Given the description of an element on the screen output the (x, y) to click on. 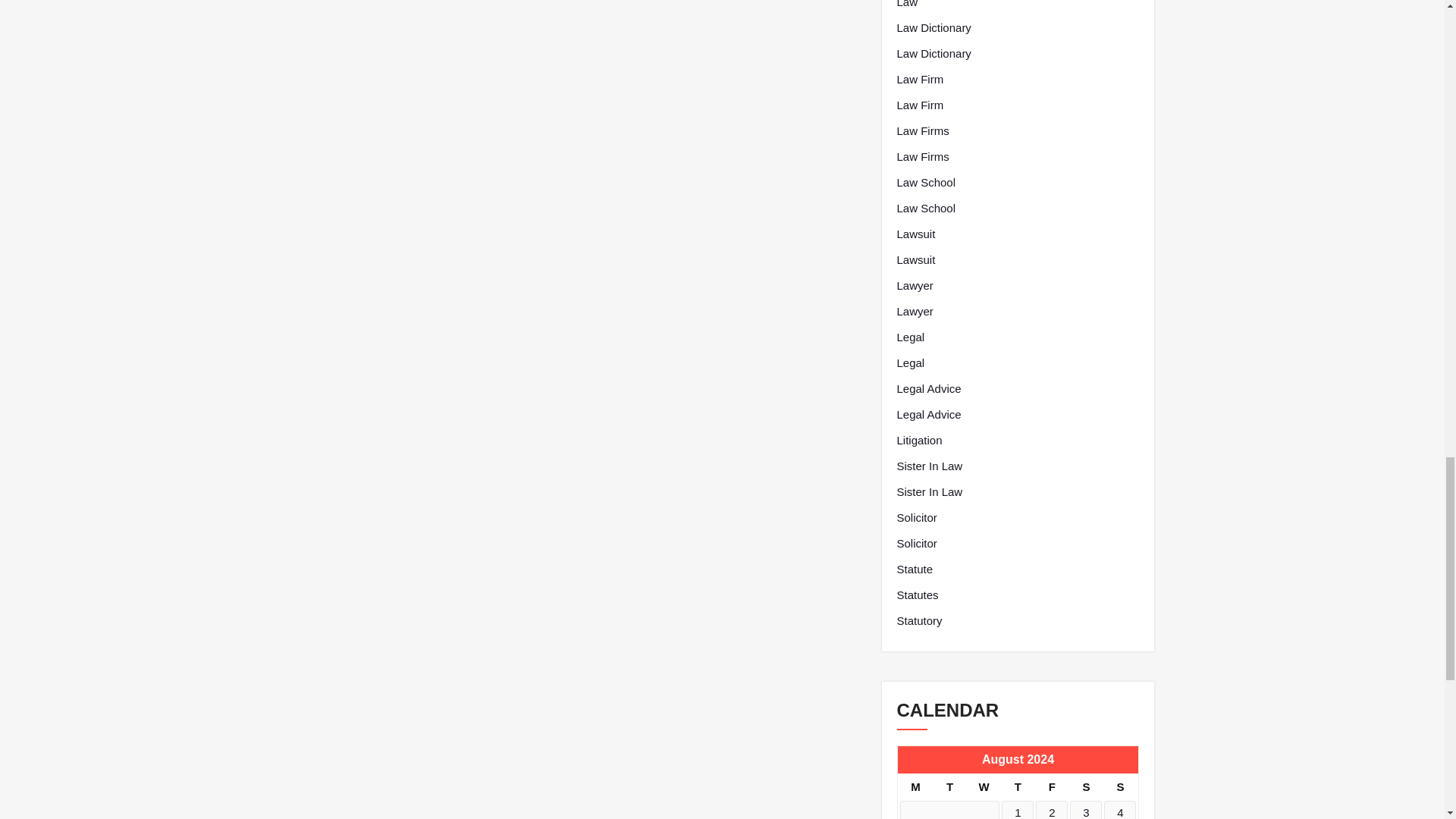
Sunday (1119, 786)
Wednesday (983, 786)
Friday (1051, 786)
Tuesday (949, 786)
Monday (915, 786)
Saturday (1086, 786)
Thursday (1017, 786)
